Given the description of an element on the screen output the (x, y) to click on. 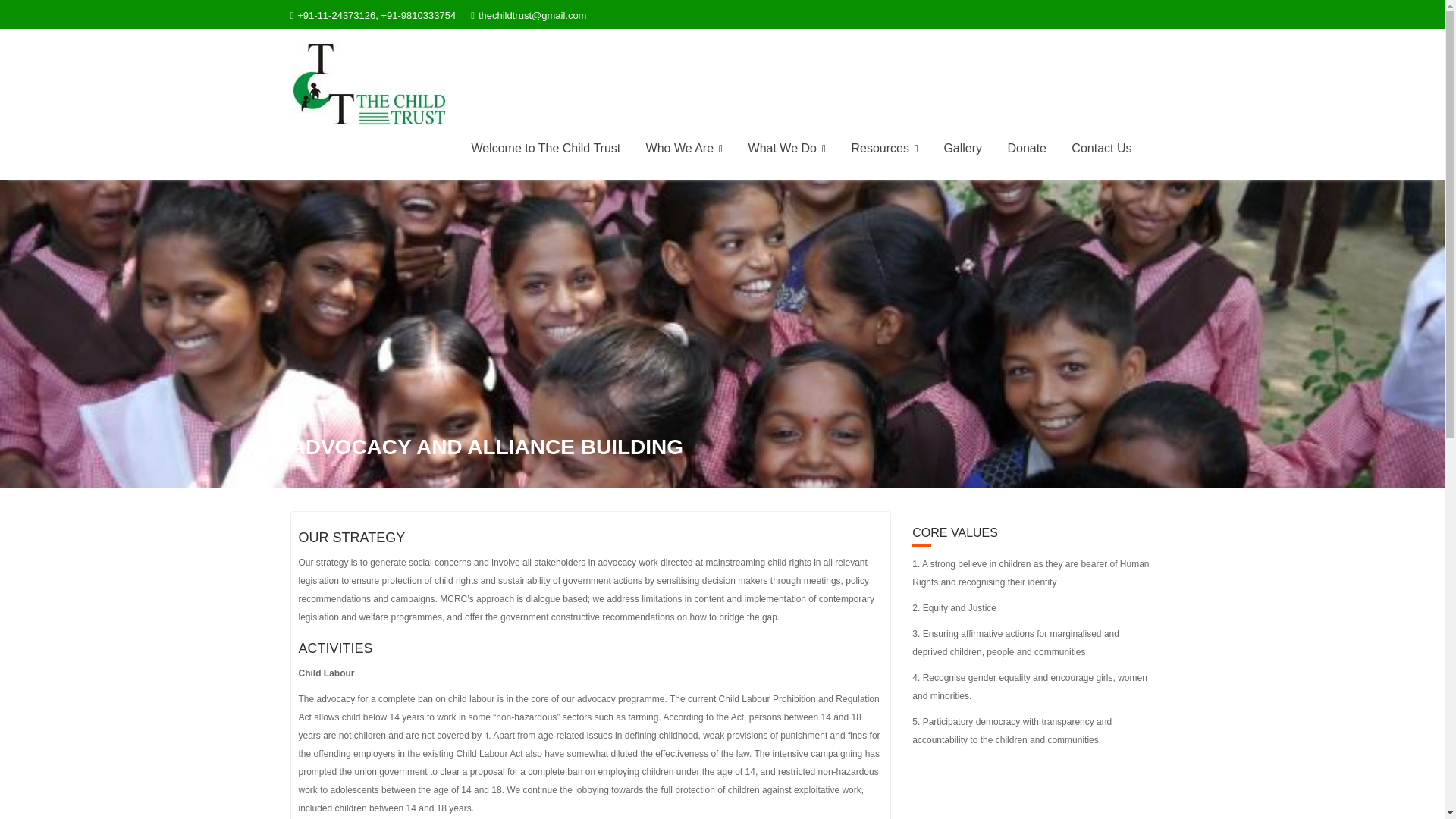
Welcome to The Child Trust (545, 148)
Contact Us (1100, 148)
Resources (885, 148)
Donate (1026, 148)
Who We Are (684, 148)
What We Do (787, 148)
Gallery (961, 148)
